Given the description of an element on the screen output the (x, y) to click on. 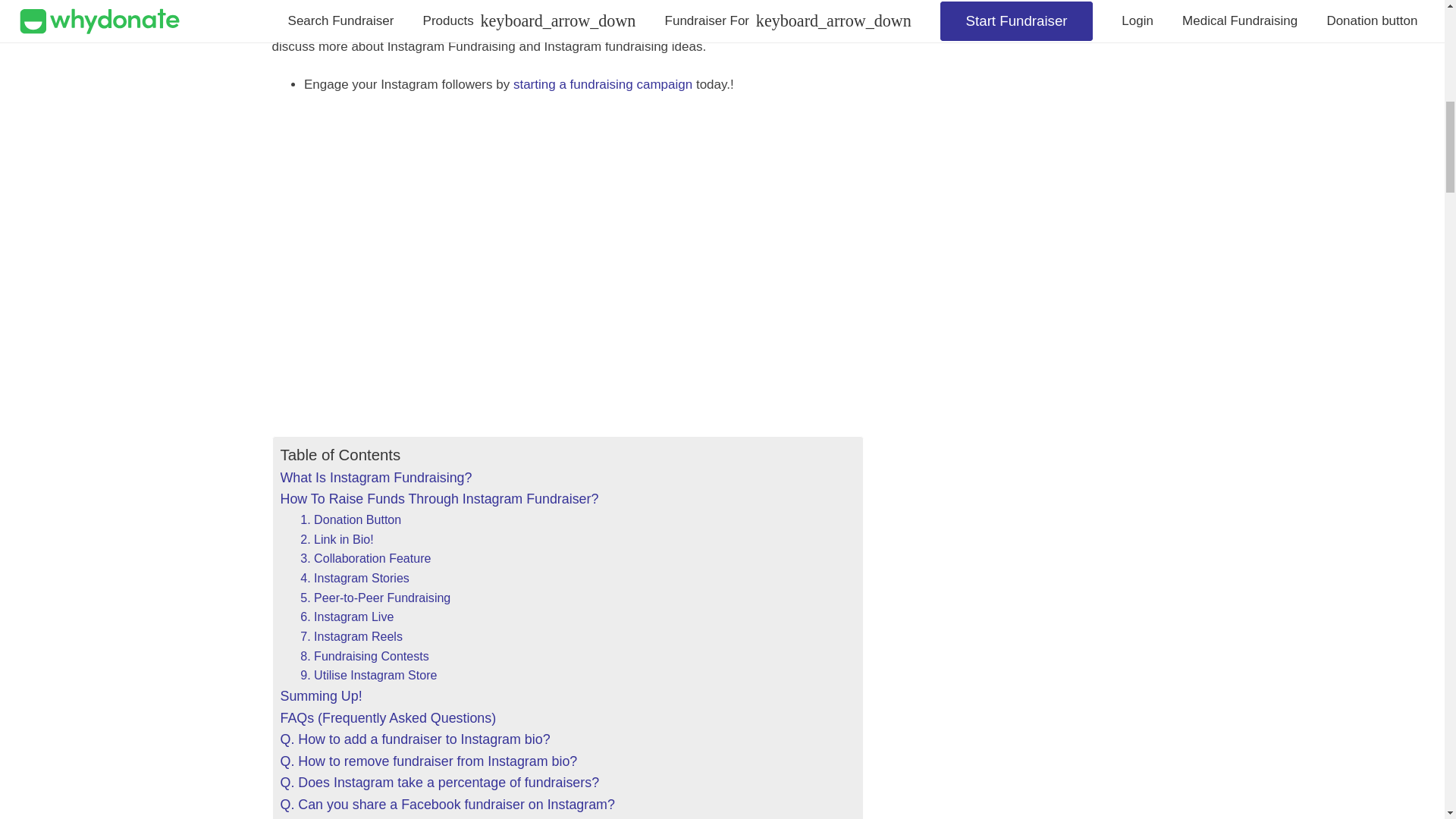
9. Utilise Instagram Store (367, 675)
2. Link in Bio! (335, 539)
6. Instagram Live (346, 617)
Summing Up! (321, 696)
1. Donation Button (350, 519)
What Is Instagram Fundraising? (376, 477)
5. Peer-to-Peer Fundraising (374, 598)
How To Raise Funds Through Instagram Fundraiser? (439, 499)
8. Fundraising Contests (363, 656)
7. Instagram Reels (351, 637)
4. Instagram Stories (354, 578)
Q. Does Instagram take a percentage of fundraisers? (440, 782)
Q. How to add a fundraiser to Instagram bio? (415, 739)
Q. How to remove fundraiser from Instagram bio? (429, 762)
